Given the description of an element on the screen output the (x, y) to click on. 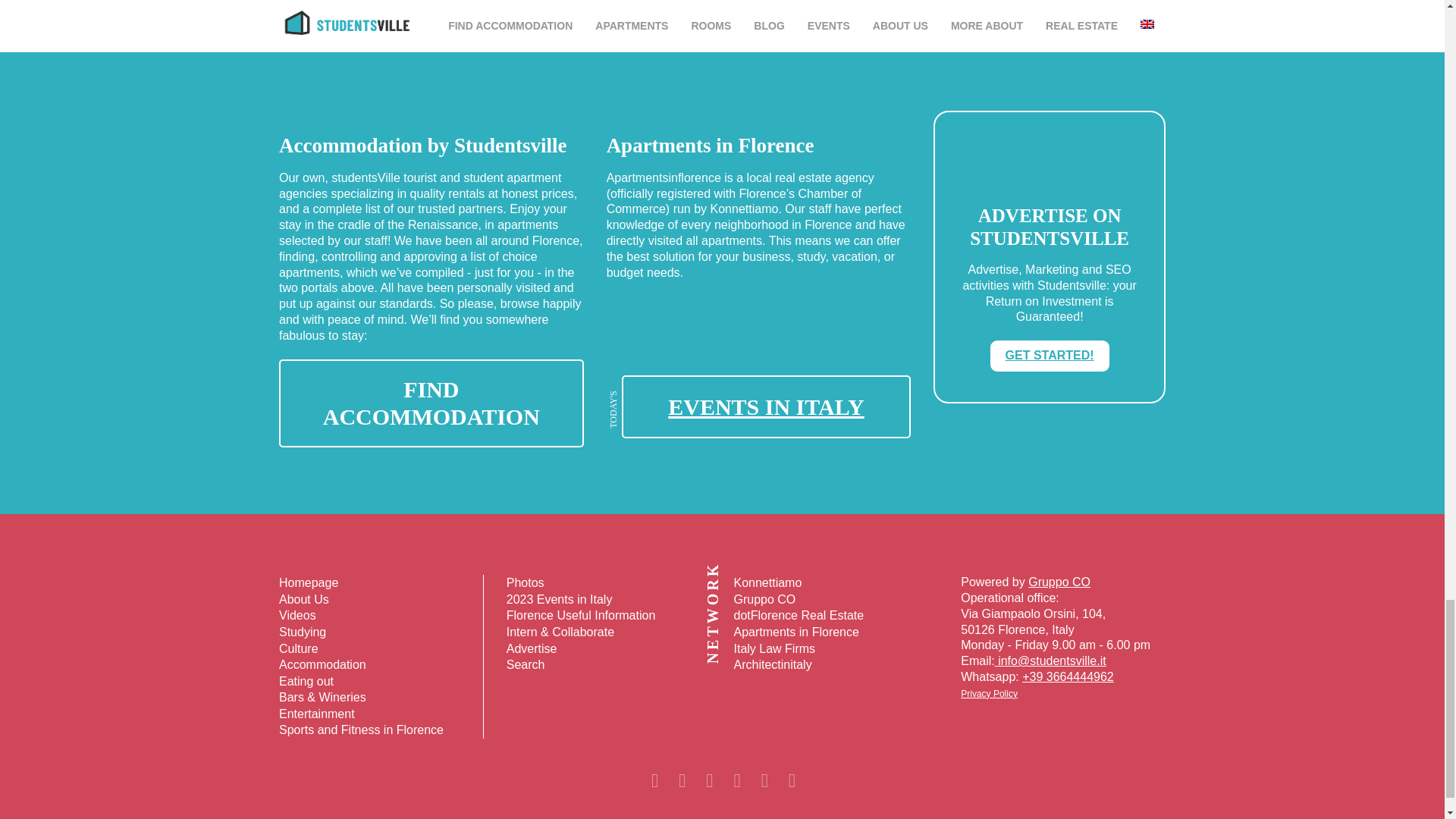
Apartments Studentsville (431, 402)
Gruppo CO (1058, 581)
Apartments in Florence (759, 368)
Studentsville Instagram (653, 780)
StudentsVille Facebook (791, 780)
StudentsVille Twitter (763, 780)
Privacy Policy (988, 693)
Studentsville Pinterest (708, 780)
Studentsville Flickr (680, 780)
StudentsVille Youtube (735, 780)
